Given the description of an element on the screen output the (x, y) to click on. 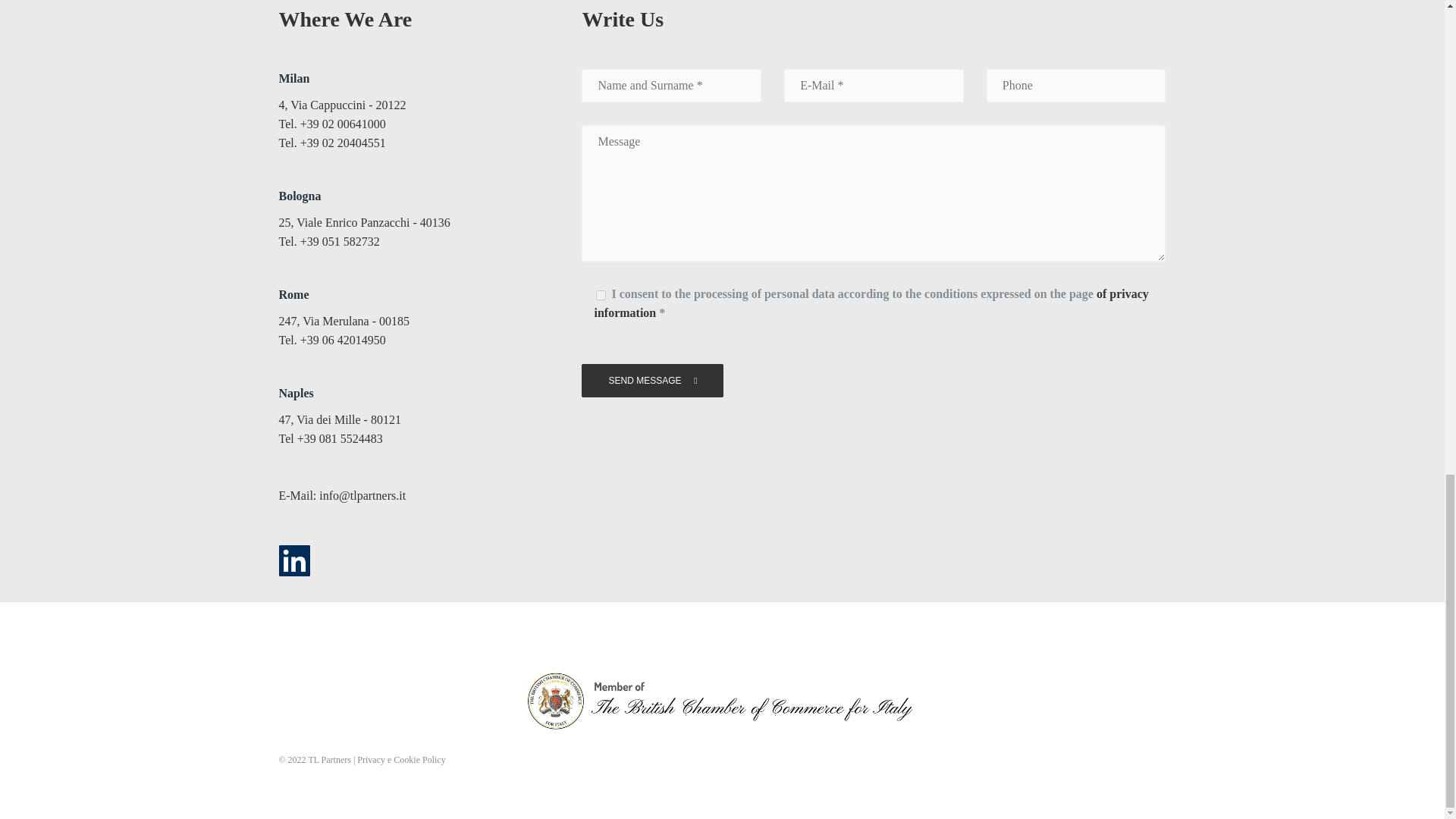
1 (600, 295)
SEND MESSAGE (651, 380)
